Given the description of an element on the screen output the (x, y) to click on. 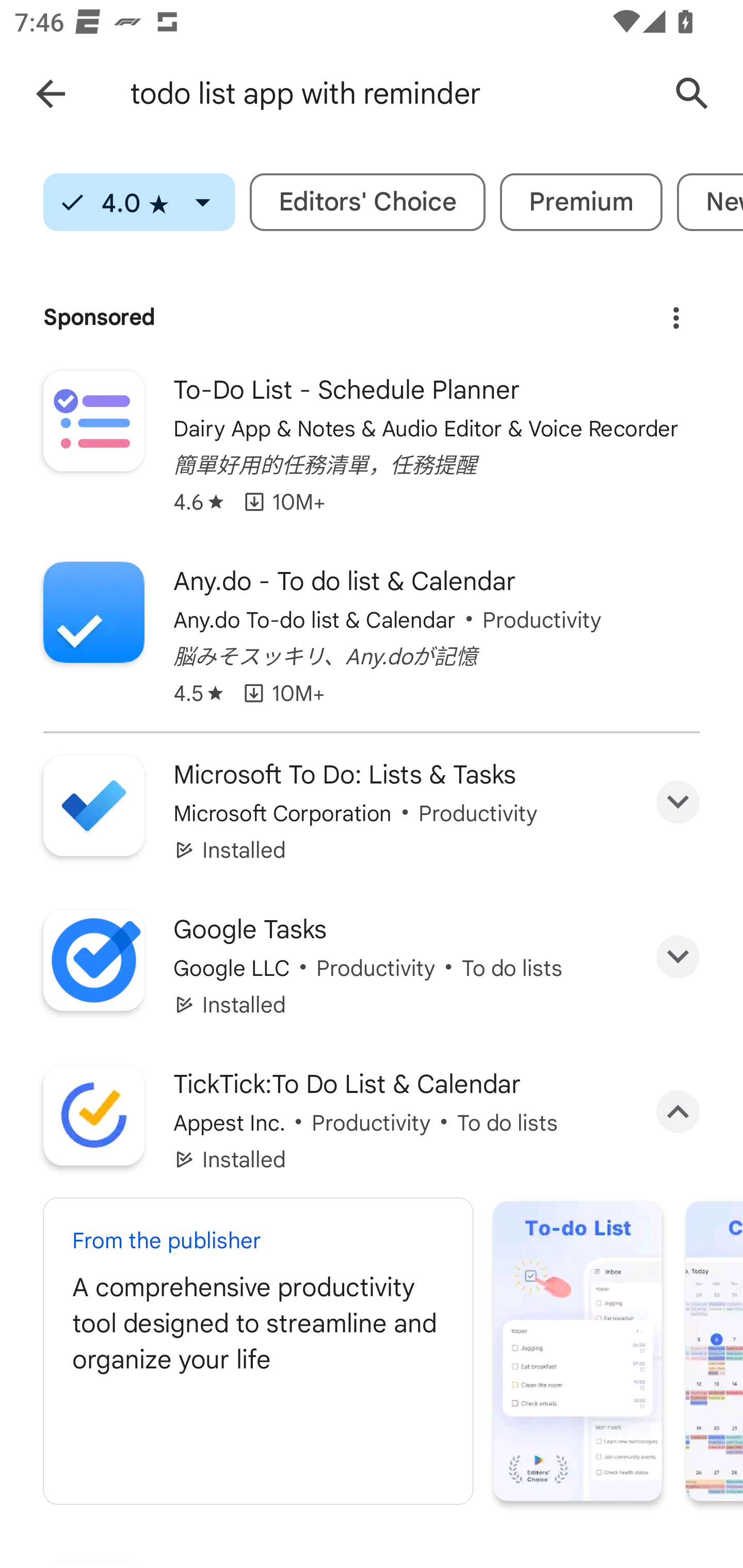
todo list app with reminder (389, 93)
Navigate up (50, 93)
Search Google Play (692, 93)
Editors' Choice - double tap to toggle the filter (367, 202)
Premium - double tap to toggle the filter (581, 202)
About this ad (676, 311)
Expand content for Microsoft To Do: Lists & Tasks (677, 801)
Expand content for Google Tasks (677, 957)
Screenshot "1" of "8" (577, 1350)
